Given the description of an element on the screen output the (x, y) to click on. 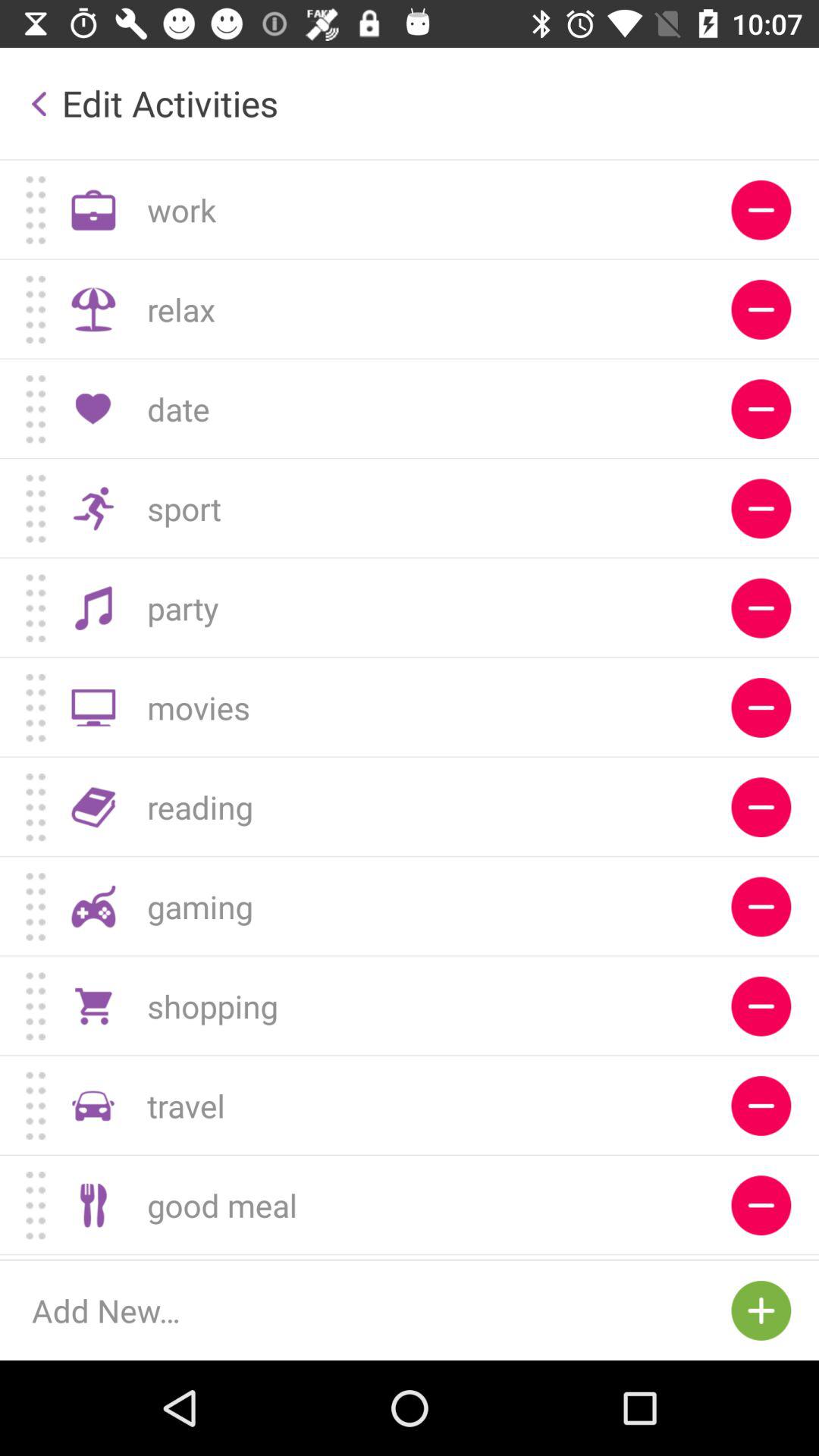
good meal (761, 1205)
